Given the description of an element on the screen output the (x, y) to click on. 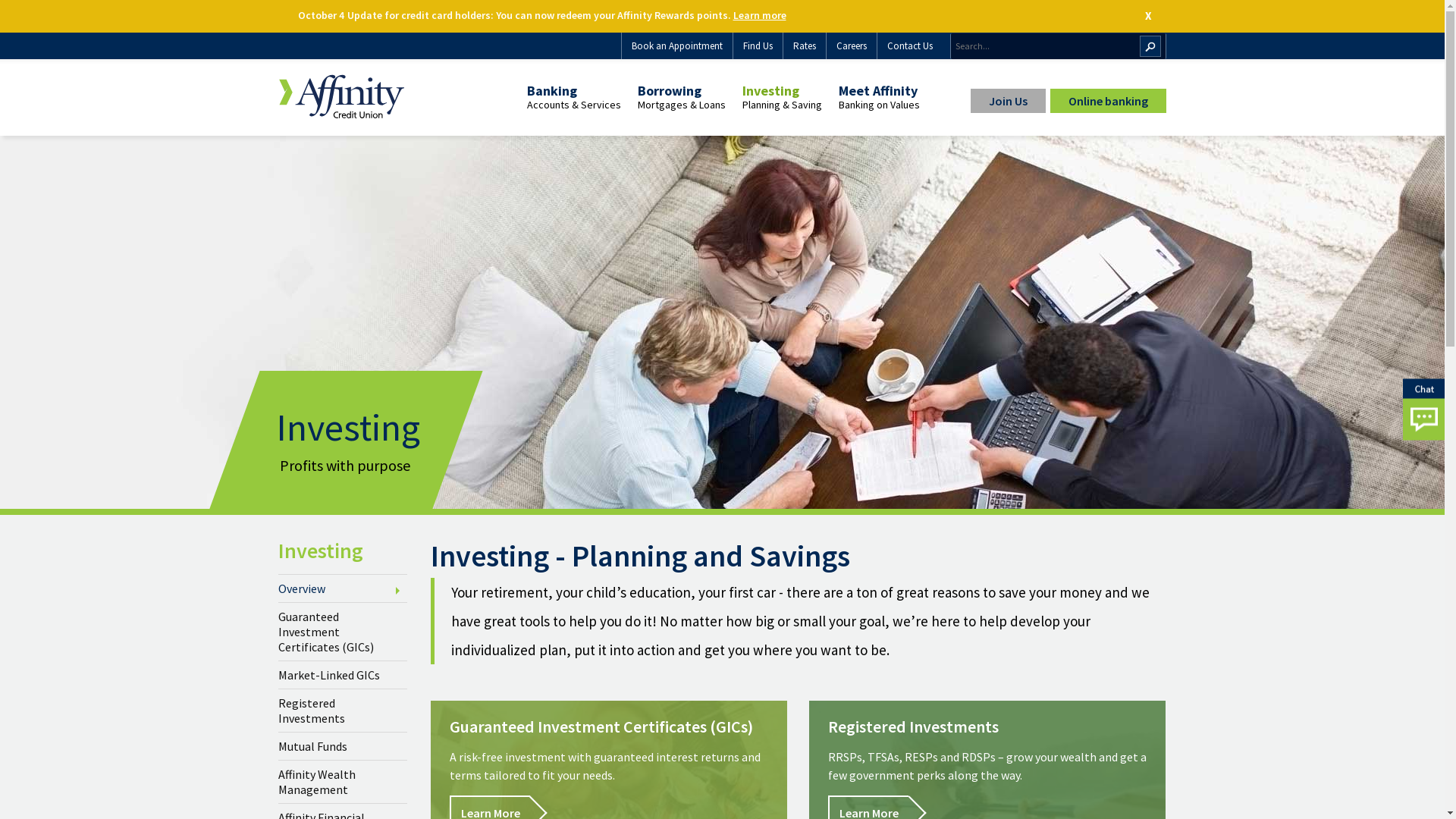
Overview Element type: text (741, 121)
Overview Element type: text (342, 588)
Registered Investments Element type: text (342, 710)
Online banking Element type: text (1107, 100)
Overview Element type: text (526, 121)
Investing Element type: text (342, 550)
Rates Element type: text (803, 45)
Book an Appointment Element type: text (675, 45)
Affinity Wealth Management Element type: text (342, 781)
Market-Linked GICs Element type: text (342, 674)
  Element type: text (0, 59)
Meet Affinity Element type: text (878, 90)
Borrowing Element type: text (680, 90)
Join Us Element type: text (1007, 100)
Find Us Element type: text (757, 45)
Banking Element type: text (573, 90)
Contact Us Element type: text (909, 45)
Overview Element type: text (838, 121)
Overview Element type: text (637, 121)
Learn more Element type: text (758, 14)
Guaranteed Investment Certificates (GICs) Element type: text (342, 631)
Careers Element type: text (850, 45)
Mutual Funds Element type: text (342, 745)
Investing Element type: text (781, 90)
